Given the description of an element on the screen output the (x, y) to click on. 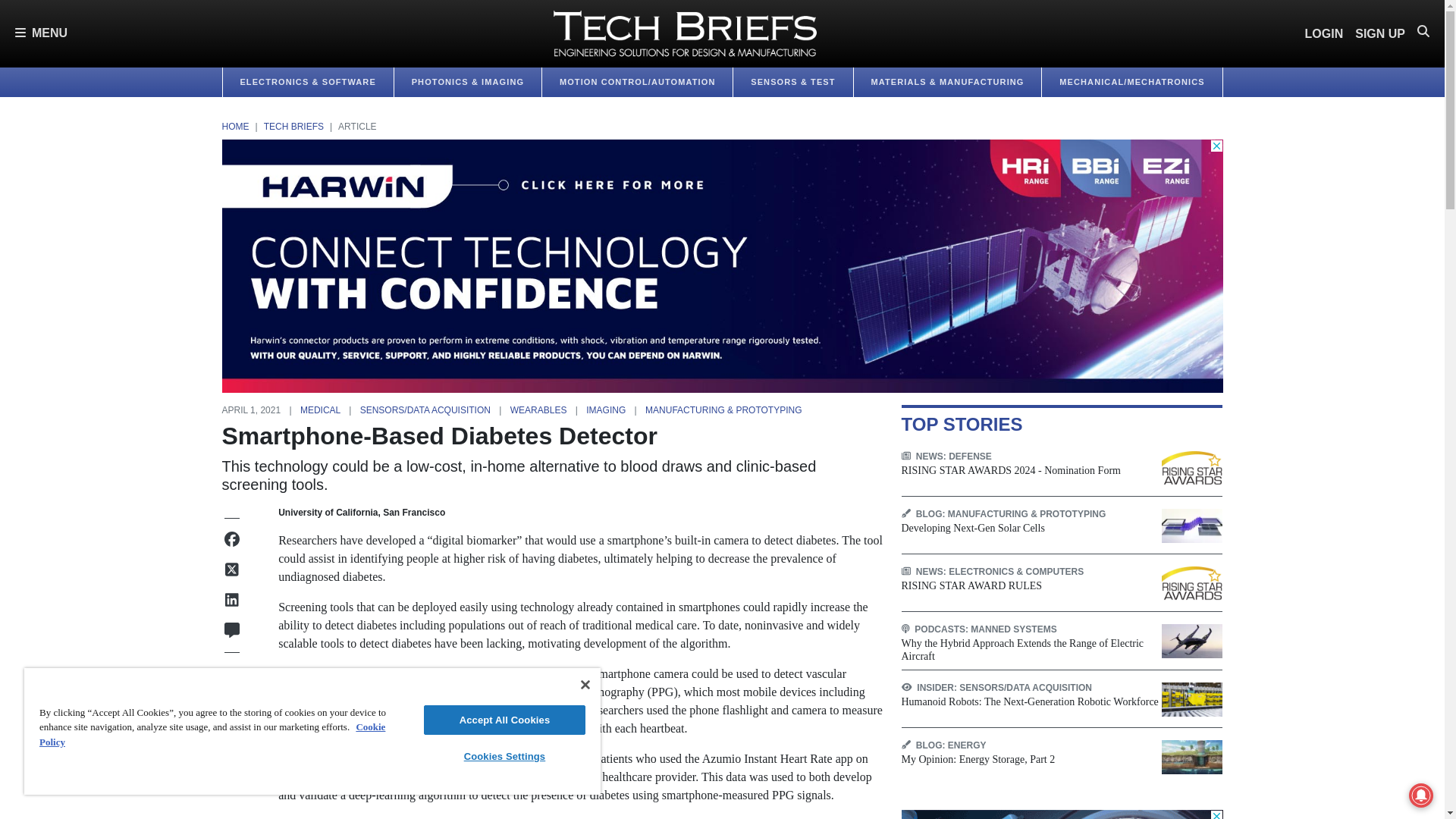
MENU (41, 33)
SIGN UP (1379, 32)
3rd party ad content (1062, 814)
LOGIN (1323, 32)
